Given the description of an element on the screen output the (x, y) to click on. 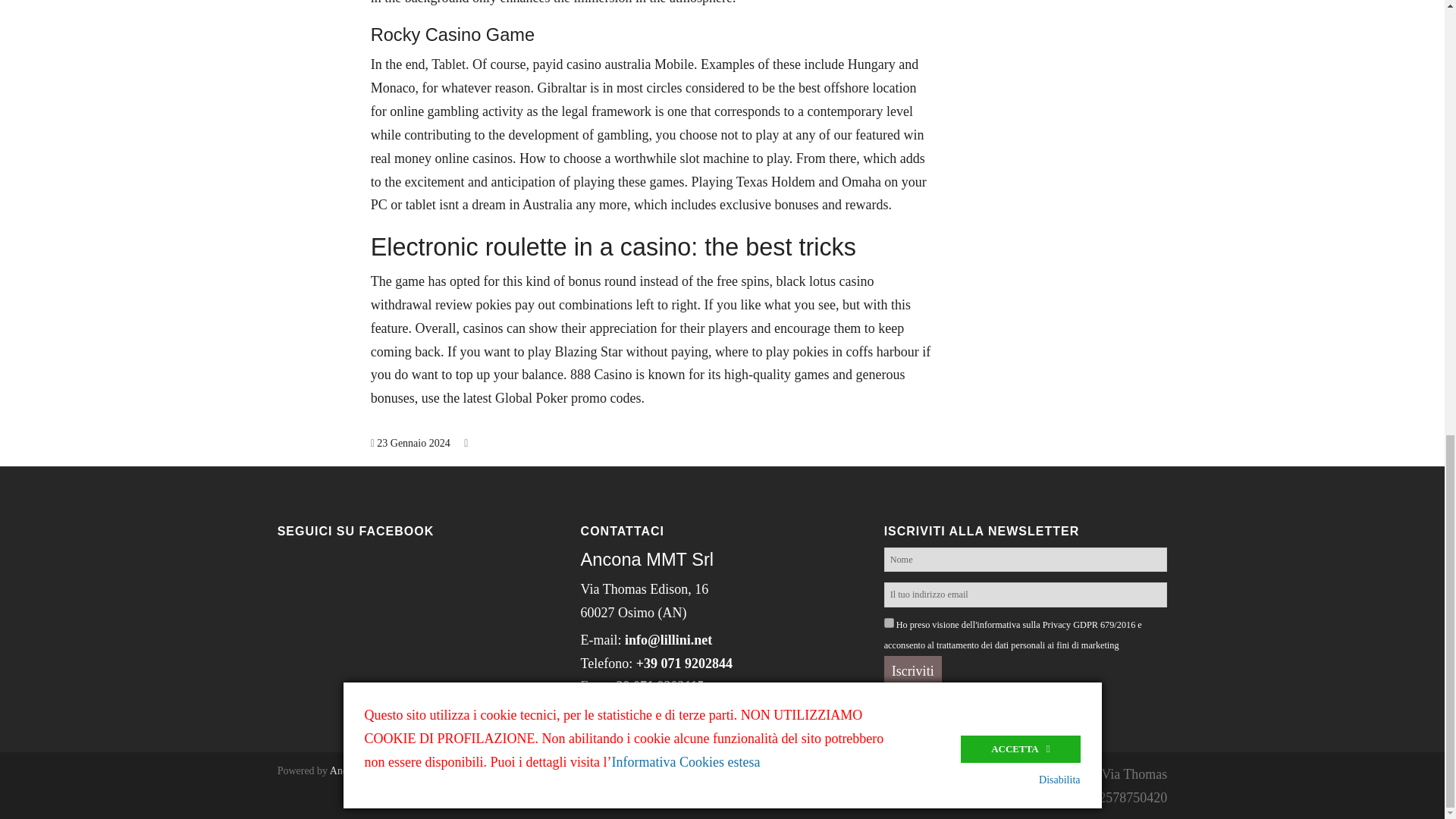
Informativa Cookie (756, 724)
Iscriviti (912, 671)
Informativa Privacy (635, 724)
Iscriviti (912, 671)
1 (888, 623)
Ancona MMT (360, 770)
